Given the description of an element on the screen output the (x, y) to click on. 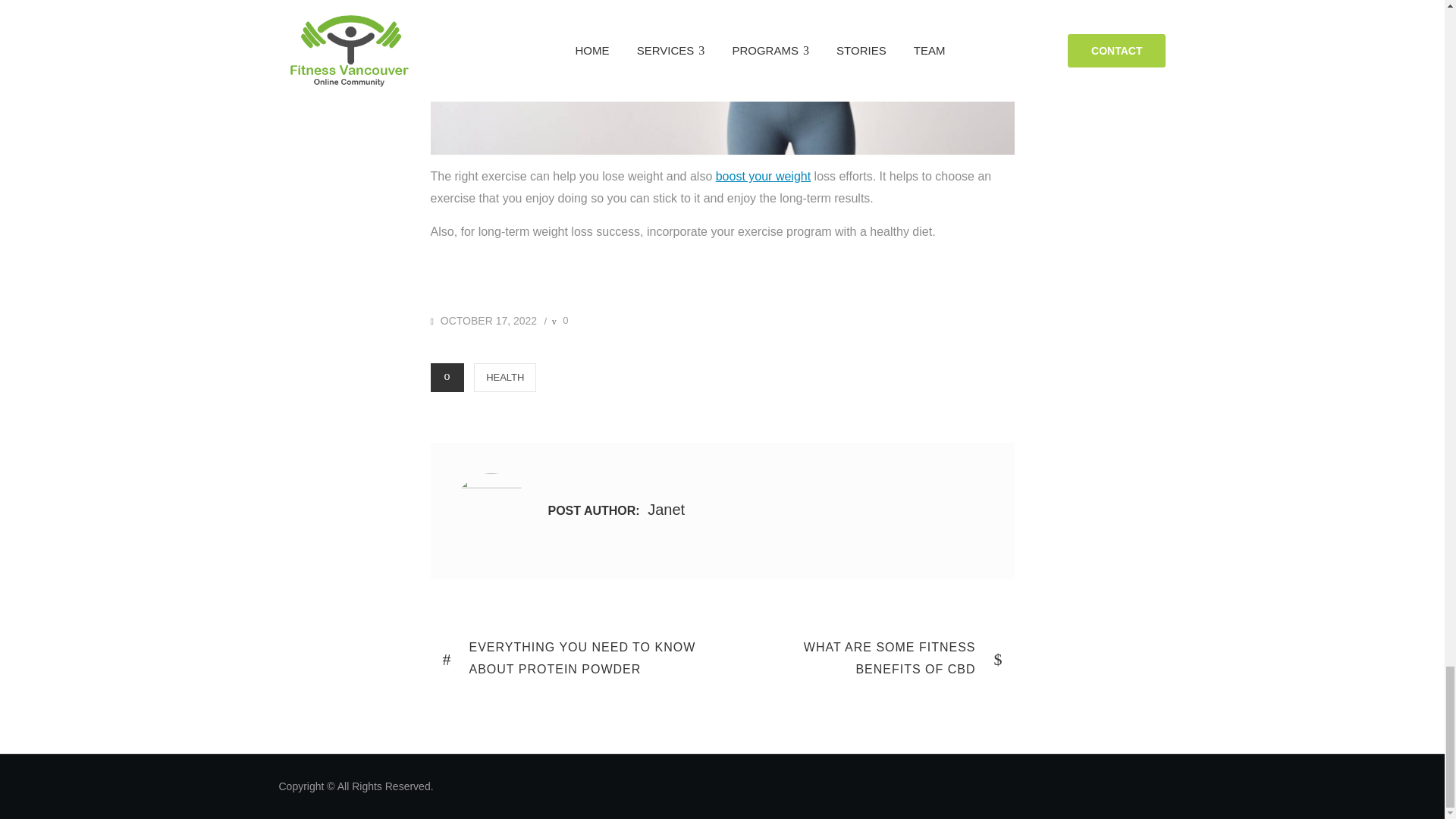
0 (560, 319)
OCTOBER 17, 2022 (483, 320)
HEALTH (867, 658)
boost your weight (504, 377)
